Given the description of an element on the screen output the (x, y) to click on. 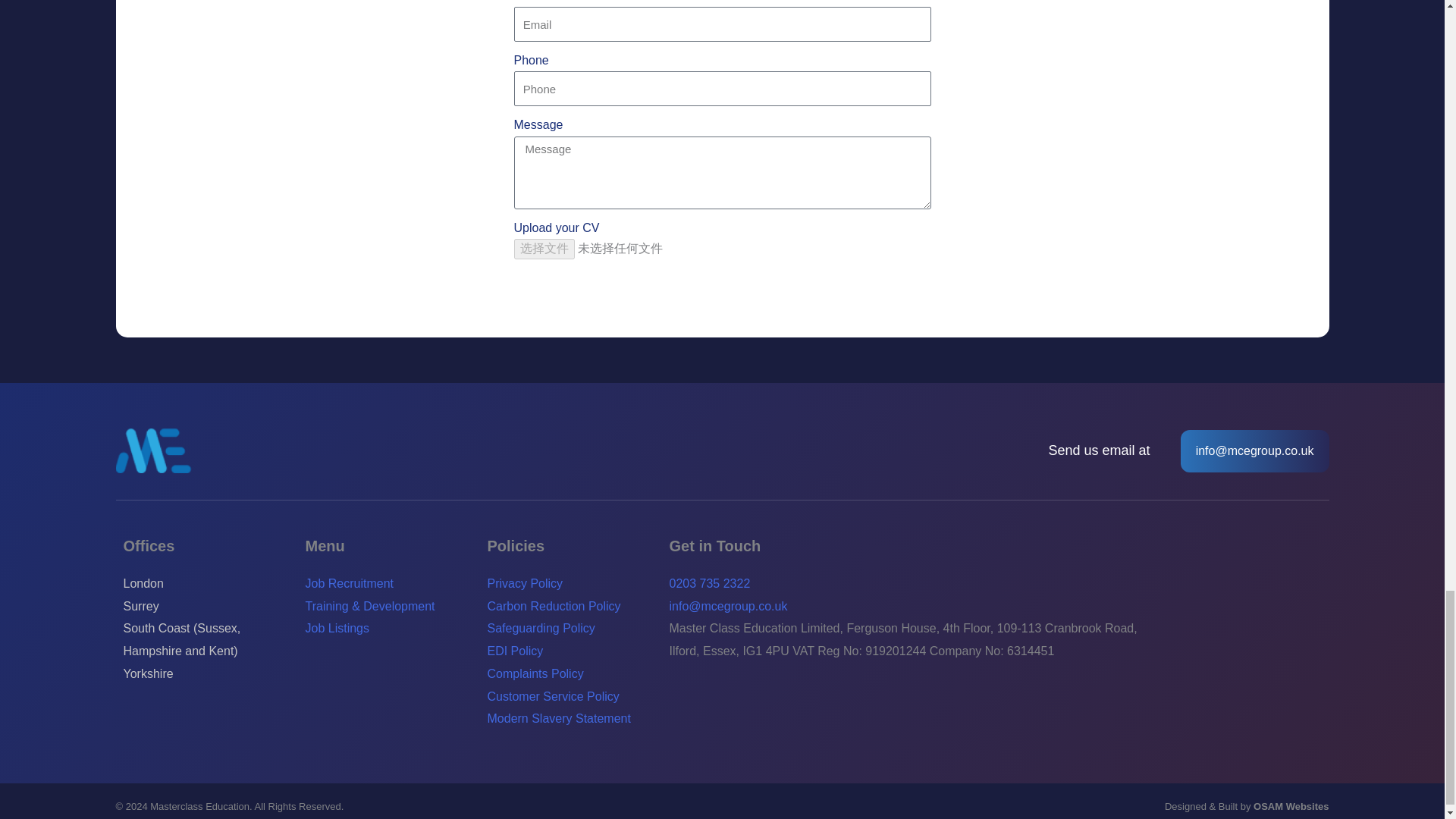
Apply Now (722, 288)
Customer Service Policy (569, 696)
0203 735 2322 (903, 583)
Yorkshire (205, 673)
London (205, 583)
Complaints Policy (569, 673)
Privacy Policy (569, 583)
Carbon Reduction Policy (569, 606)
Job Listings (387, 628)
Job Recruitment (387, 583)
Surrey (205, 606)
EDI Policy (569, 650)
Safeguarding Policy (569, 628)
Modern Slavery Statement (569, 718)
